Given the description of an element on the screen output the (x, y) to click on. 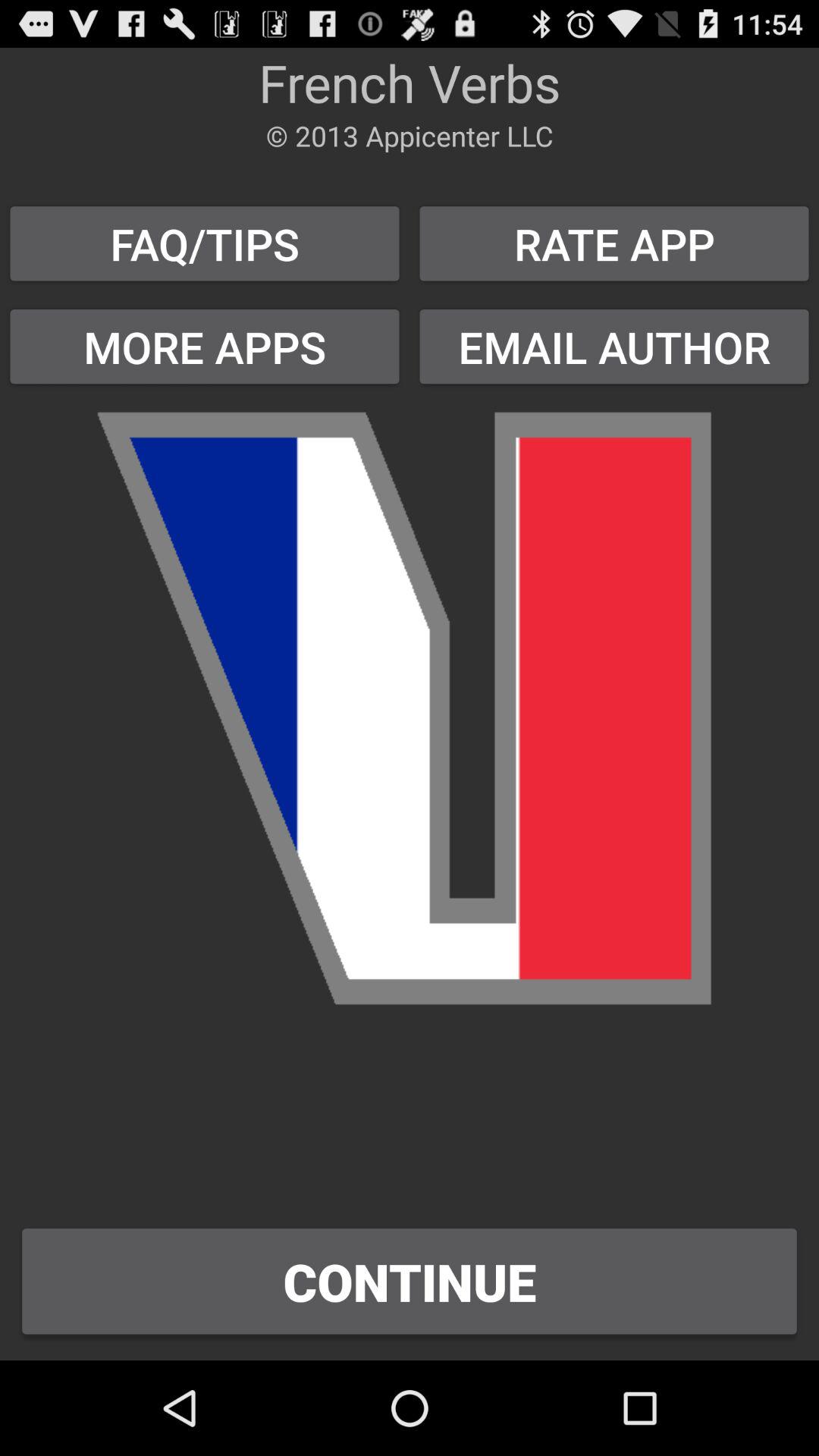
launch the button next to the faq/tips (613, 346)
